Given the description of an element on the screen output the (x, y) to click on. 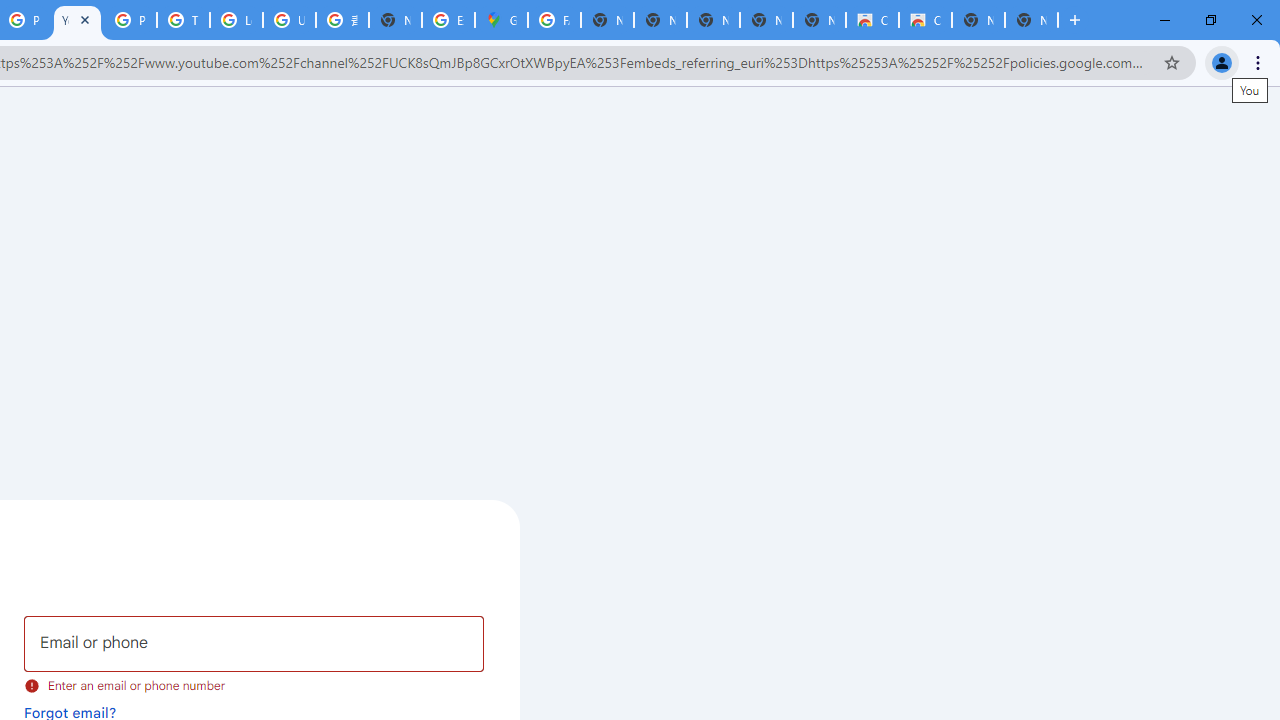
New Tab (395, 20)
New Tab (1031, 20)
Classic Blue - Chrome Web Store (872, 20)
Tips & tricks for Chrome - Google Chrome Help (183, 20)
Email or phone (253, 643)
YouTube (77, 20)
